Given the description of an element on the screen output the (x, y) to click on. 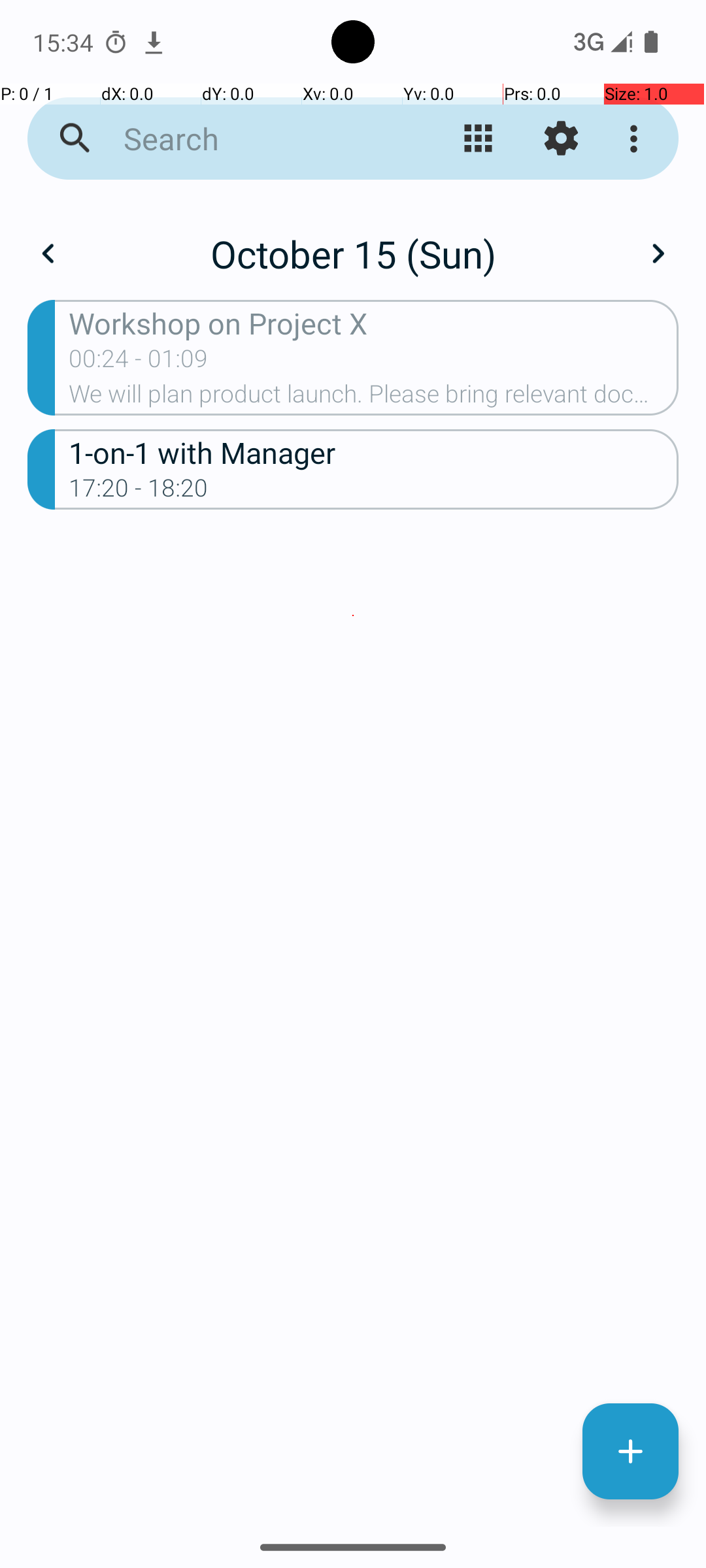
00:24 - 01:09 Element type: android.widget.TextView (137, 362)
We will plan product launch. Please bring relevant documents. Element type: android.widget.TextView (373, 397)
1-on-1 with Manager Element type: android.widget.TextView (373, 451)
17:20 - 18:20 Element type: android.widget.TextView (137, 491)
